Given the description of an element on the screen output the (x, y) to click on. 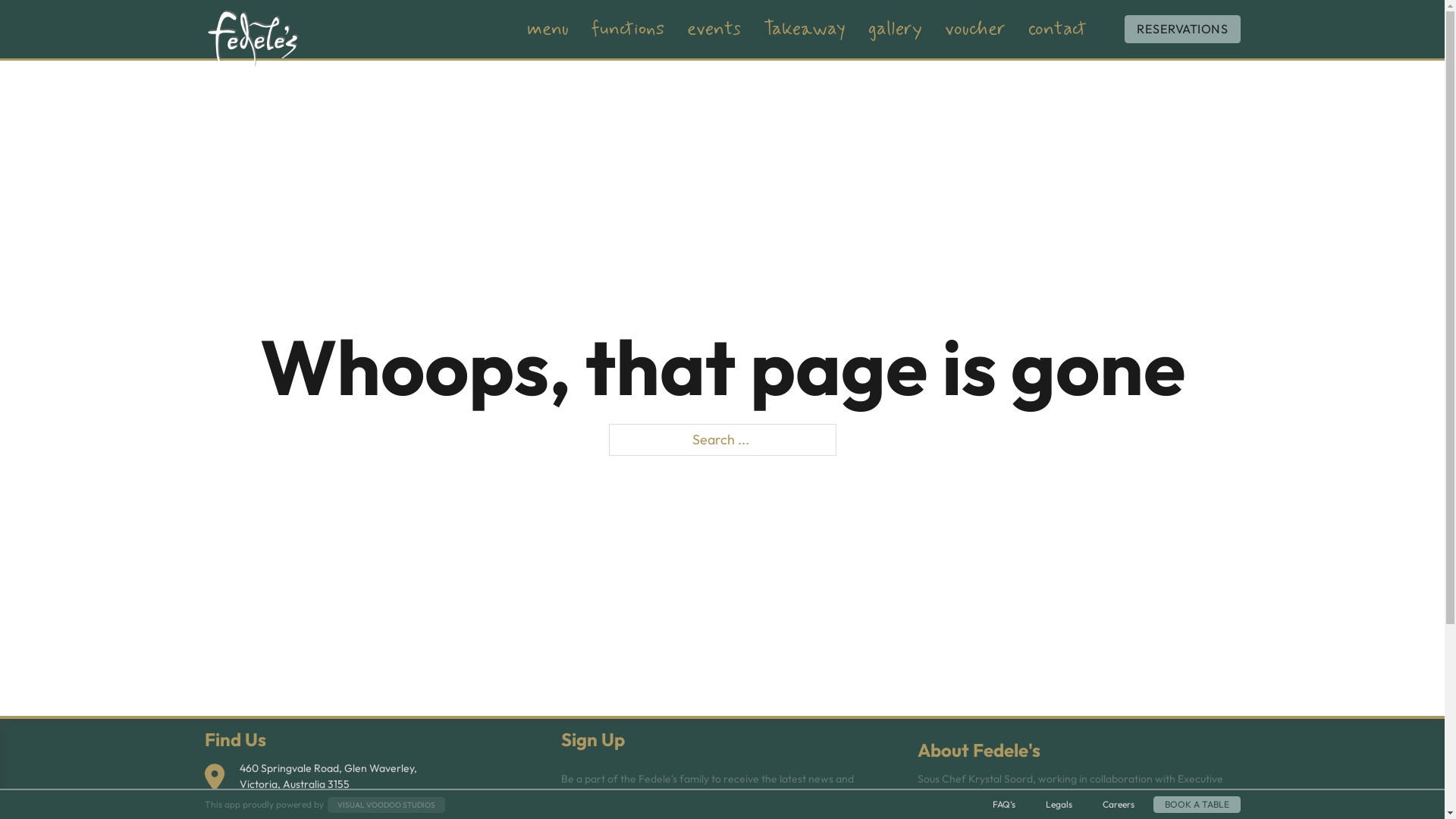
functions Element type: text (627, 29)
Takeaway Element type: text (804, 29)
VISUAL VOODOO STUDIOS Element type: text (386, 804)
gallery Element type: text (895, 29)
menu Element type: text (547, 29)
voucher Element type: text (974, 29)
Legals Element type: text (1058, 804)
Careers Element type: text (1117, 804)
events Element type: text (713, 29)
contact Element type: text (1057, 29)
RESERVATIONS Element type: text (1181, 29)
BOOK A TABLE Element type: text (1195, 804)
